Given the description of an element on the screen output the (x, y) to click on. 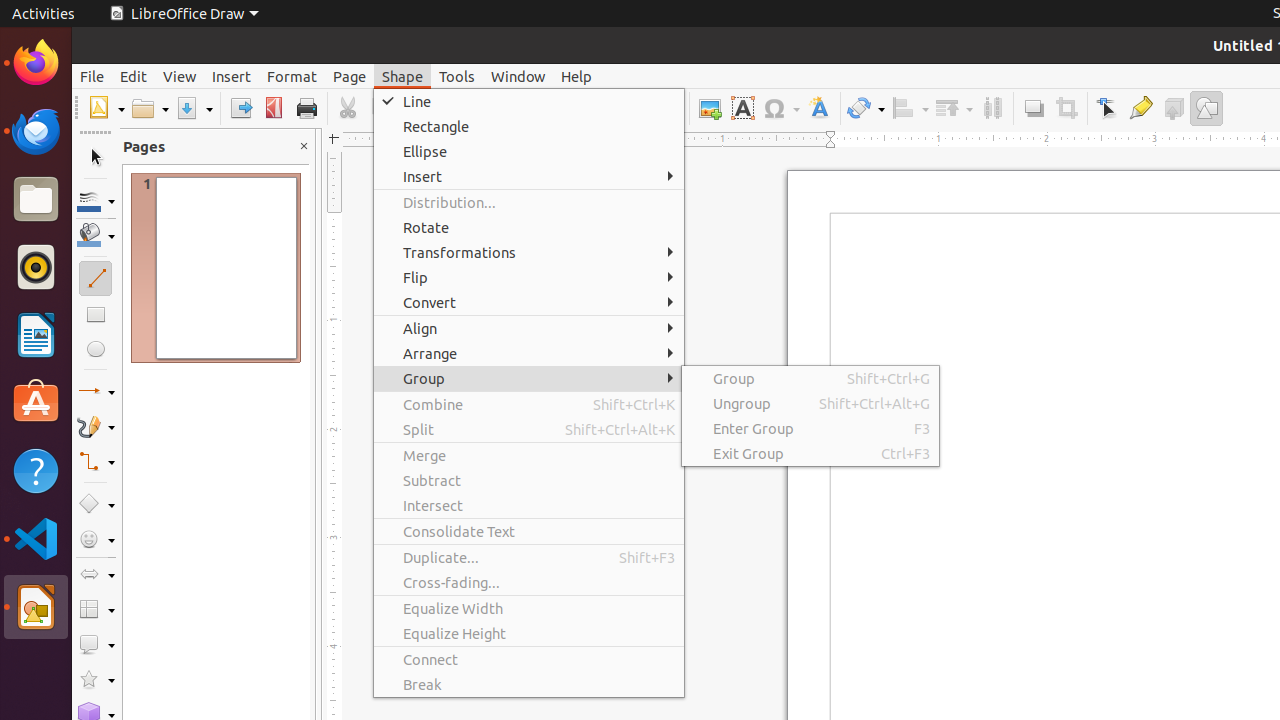
Arrange Element type: push-button (954, 108)
Thunderbird Mail Element type: push-button (36, 131)
Zoom & Pan Element type: push-button (668, 108)
Rectangle Element type: check-menu-item (529, 126)
Shape Element type: menu (402, 76)
